Given the description of an element on the screen output the (x, y) to click on. 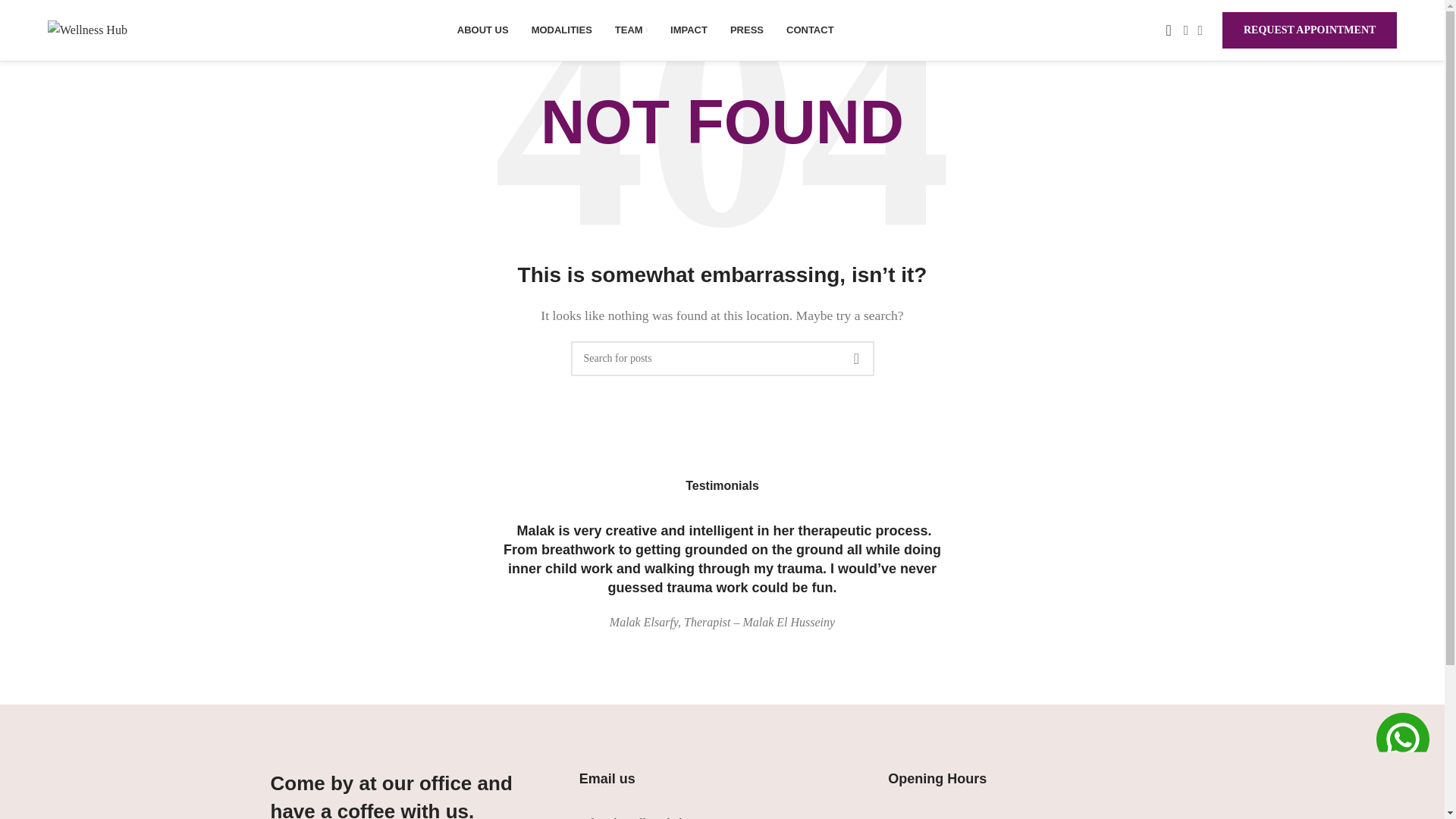
MODALITIES (561, 30)
CONTACT (810, 30)
IMPACT (688, 30)
TEAM (630, 30)
REQUEST APPOINTMENT (1309, 30)
PRESS (746, 30)
SEARCH (855, 358)
Search for posts (721, 358)
ABOUT US (482, 30)
